Given the description of an element on the screen output the (x, y) to click on. 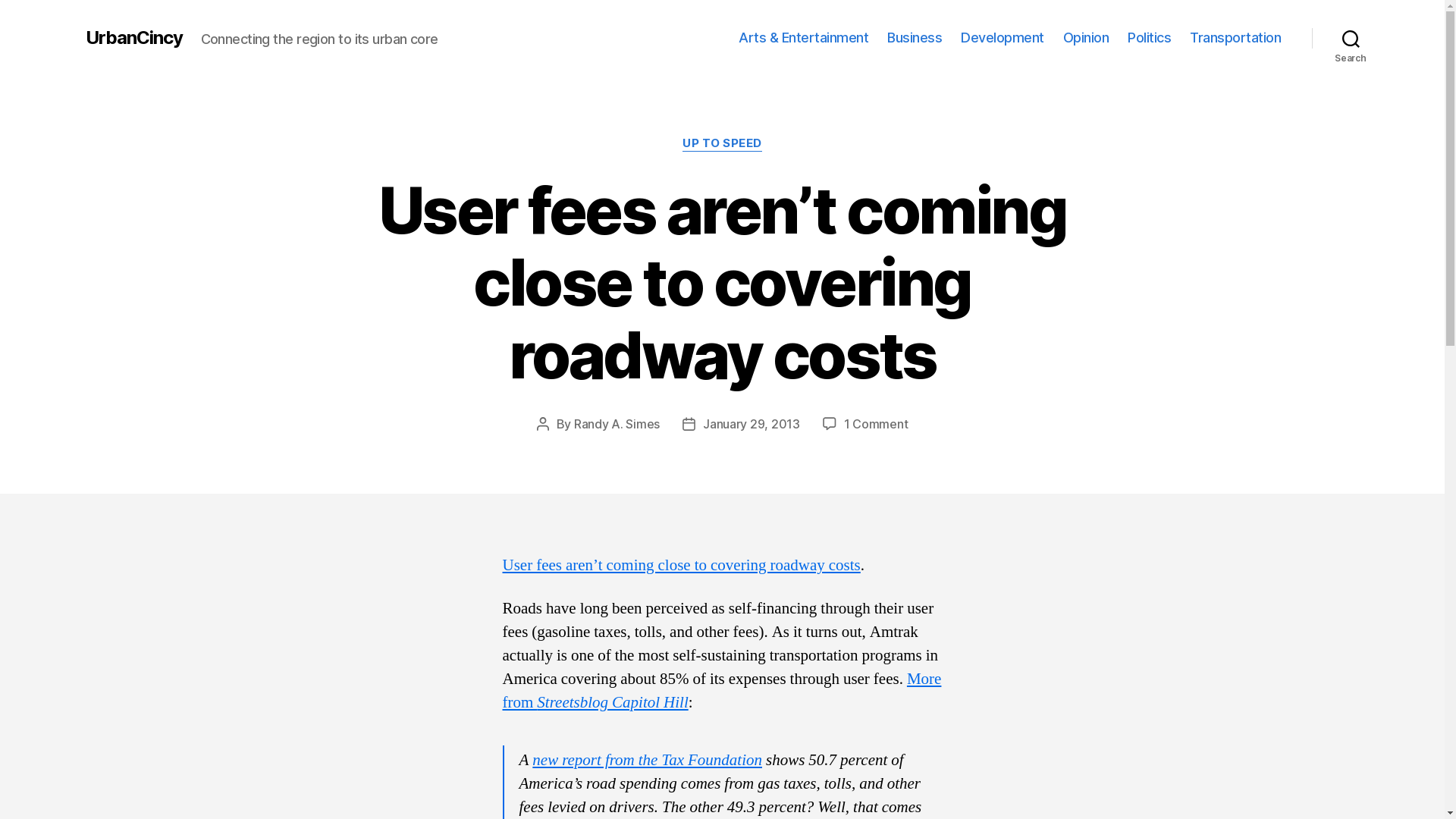
Business Element type: text (914, 37)
new report from the Tax Foundation Element type: text (647, 759)
Arts & Entertainment Element type: text (803, 37)
January 29, 2013 Element type: text (751, 423)
Opinion Element type: text (1086, 37)
UP TO SPEED Element type: text (722, 143)
UrbanCincy Element type: text (133, 37)
Randy A. Simes Element type: text (616, 423)
More from Streetsblog Capitol Hill Element type: text (721, 690)
Transportation Element type: text (1234, 37)
Development Element type: text (1002, 37)
Search Element type: text (1350, 37)
Politics Element type: text (1148, 37)
